Given the description of an element on the screen output the (x, y) to click on. 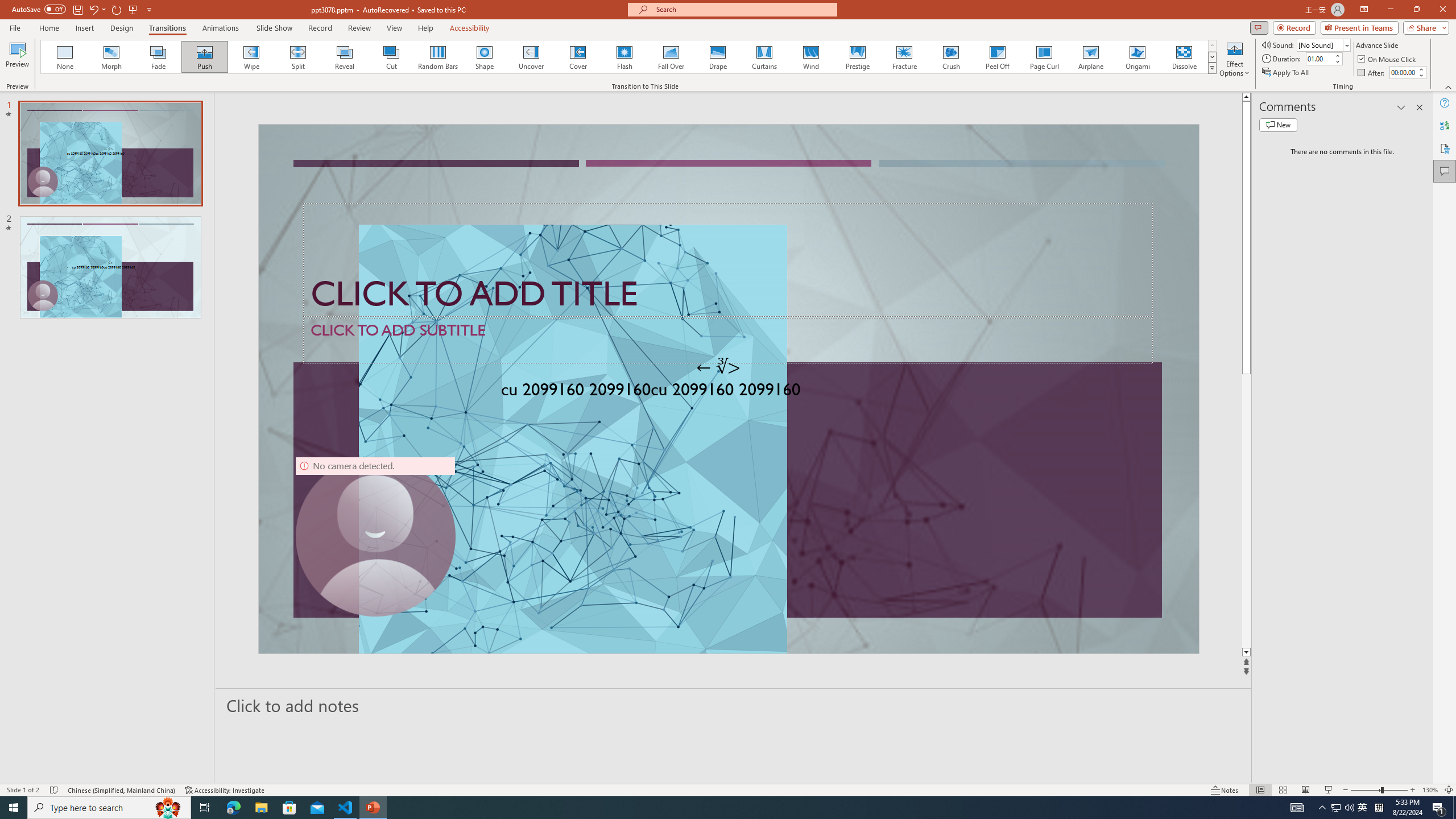
Split (298, 56)
View (395, 28)
Zoom Out (1365, 790)
Airplane (1090, 56)
Design (122, 28)
Shape (484, 56)
Zoom In (1412, 790)
Subtitle TextBox (727, 339)
Animations (220, 28)
Row up (1212, 45)
From Beginning (133, 9)
Comments (1444, 170)
Camera 9, No camera detected. (374, 536)
